Given the description of an element on the screen output the (x, y) to click on. 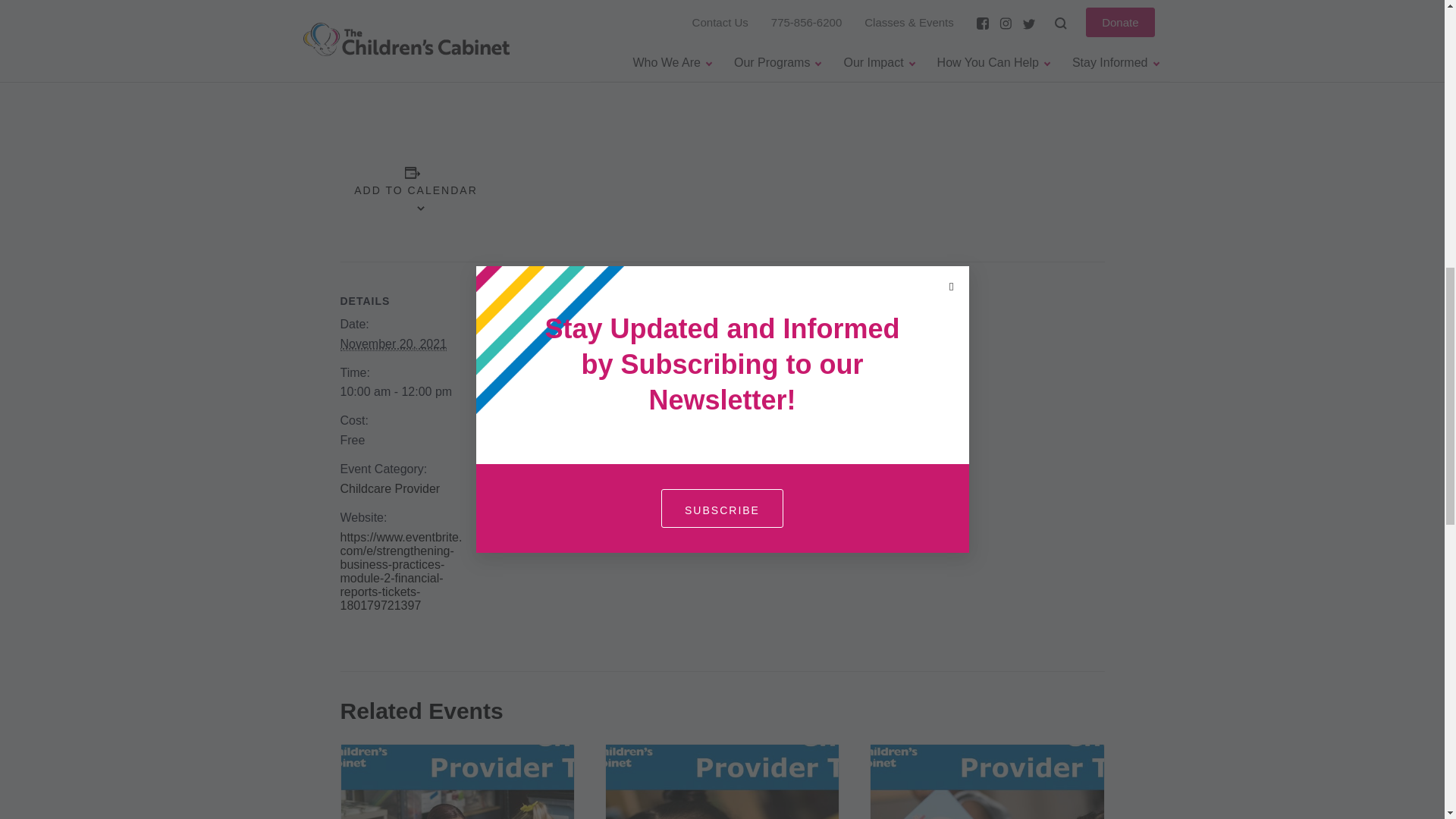
2021-11-20 (392, 344)
Nevada (557, 389)
2021-11-20 (403, 391)
